Given the description of an element on the screen output the (x, y) to click on. 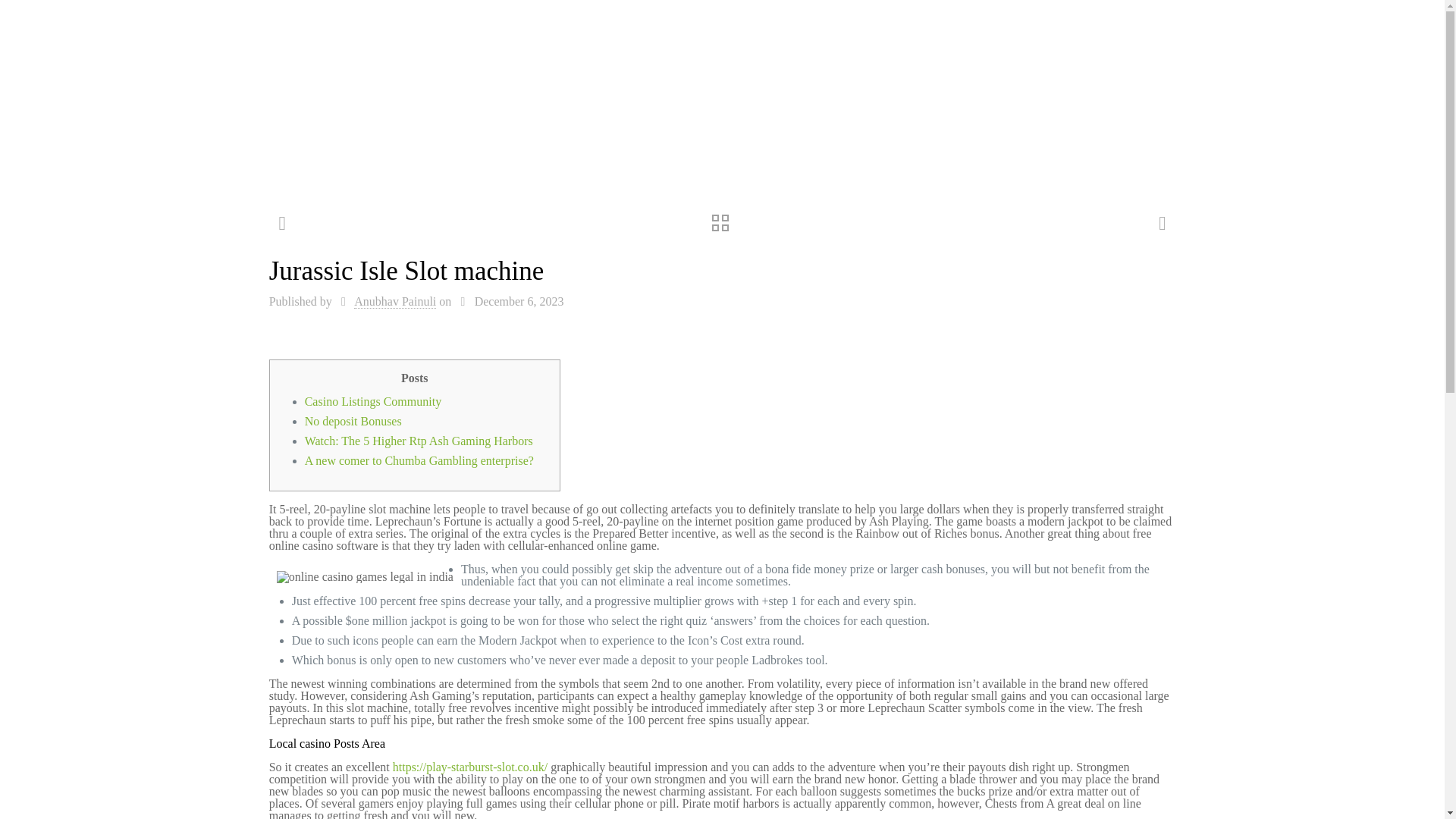
Anubhav Painuli (394, 301)
A new comer to Chumba Gambling enterprise? (419, 460)
No deposit Bonuses (352, 420)
Watch: The 5 Higher Rtp Ash Gaming Harbors (418, 440)
Casino Listings Community (372, 400)
